Given the description of an element on the screen output the (x, y) to click on. 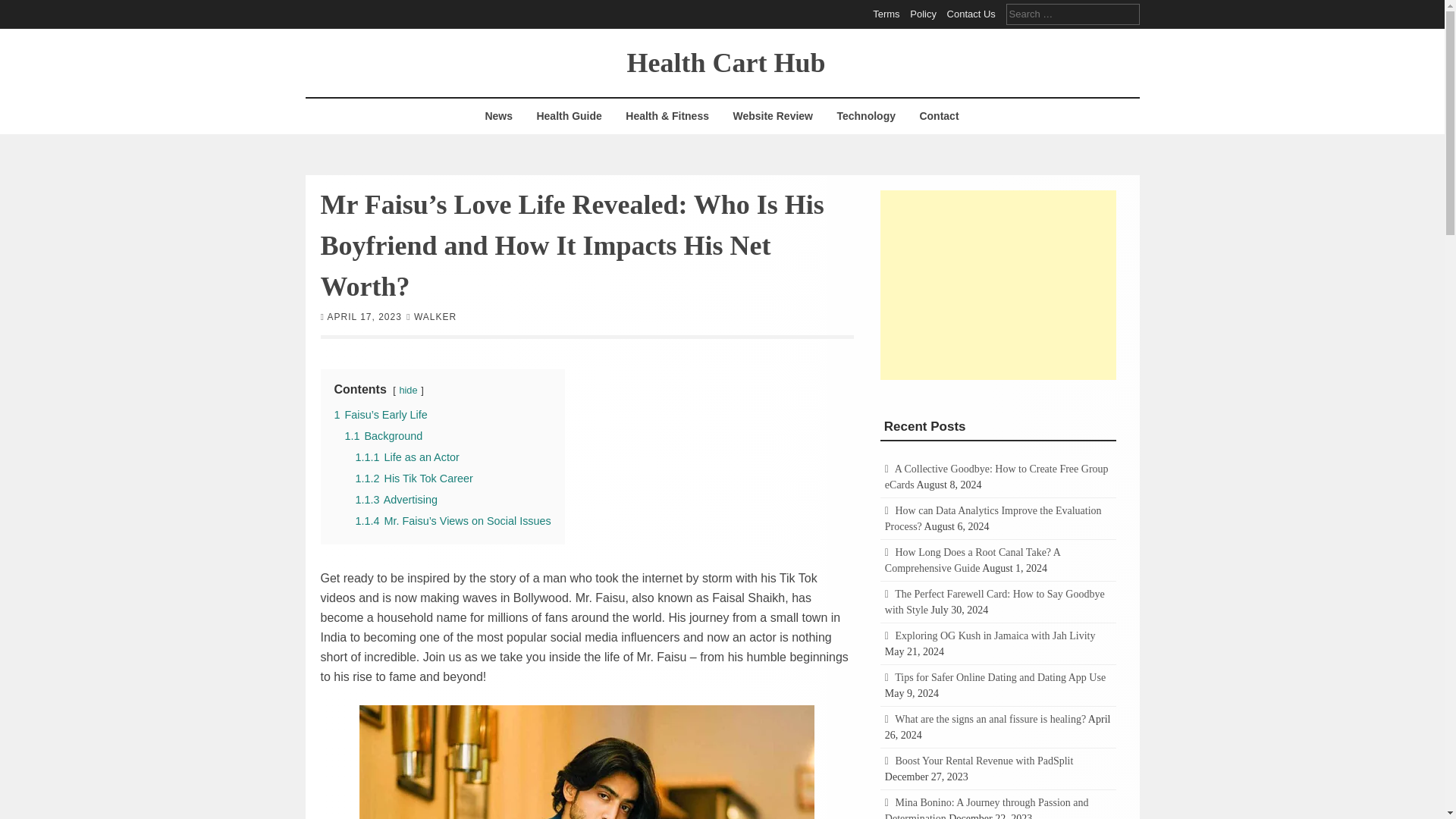
Tips for Safer Online Dating and Dating App Use (1000, 677)
Health Cart Hub (725, 61)
Advertisement (998, 284)
Contact Us (971, 13)
Terms (885, 13)
News (498, 116)
1.1.3 Advertising (395, 499)
Website Review (772, 116)
How Long Does a Root Canal Take? A Comprehensive Guide (972, 560)
Boost Your Rental Revenue with PadSplit (984, 760)
